Given the description of an element on the screen output the (x, y) to click on. 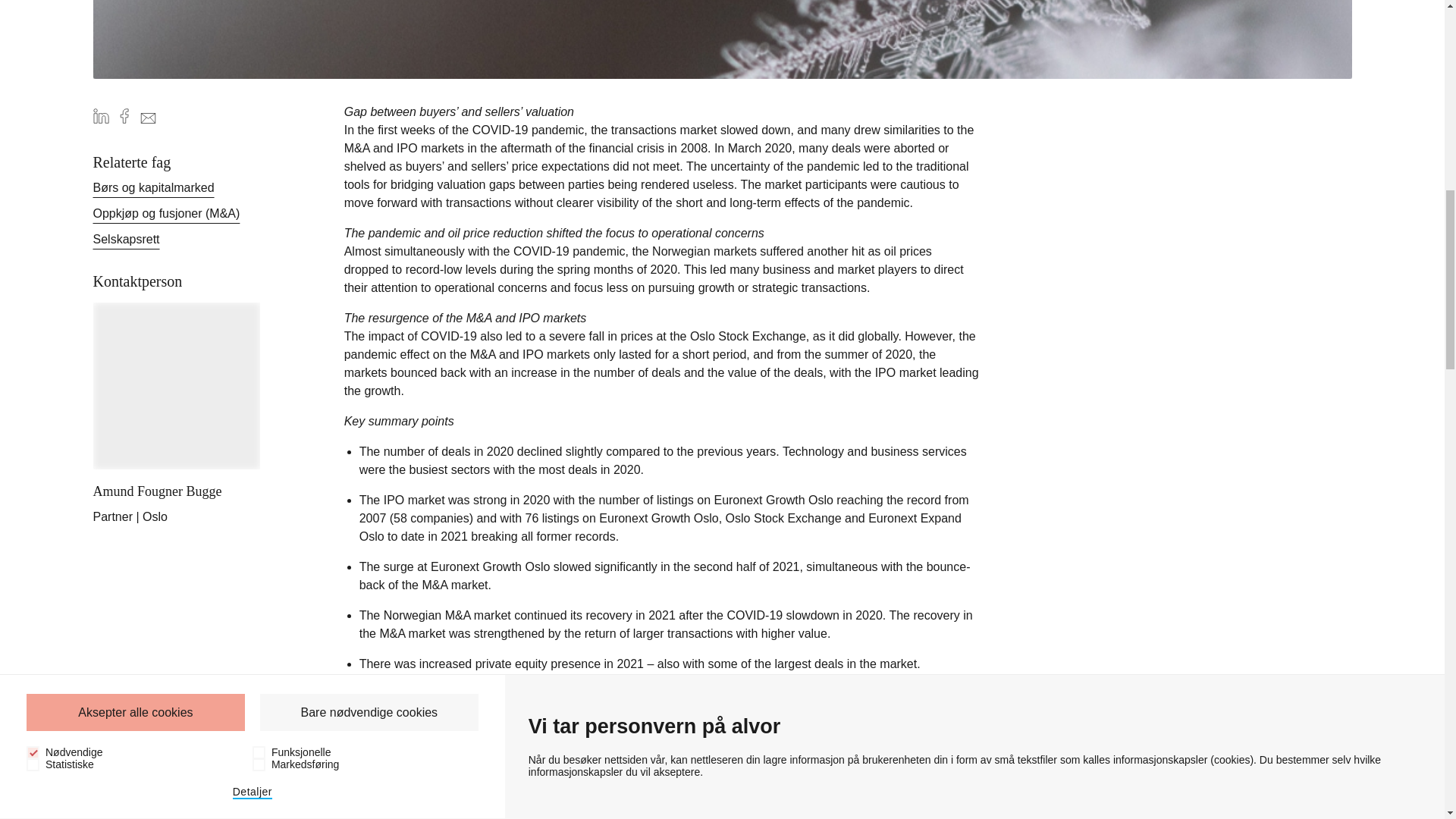
PHP (462, 123)
PHPSESSID (1157, 123)
Cookie Information (462, 80)
CookieInformationConsent (1157, 80)
Kreves for at nettsiden skal fungere riktig. (51, 271)
svw.no (636, 216)
Session (1331, 80)
Session (983, 123)
.cms.chambers.com (983, 166)
Kreves for at nettsiden skal fungere riktig. (1331, 166)
Kreves for at nettsiden skal fungere riktig. (636, 166)
ARRAffinitySameSite (636, 123)
kontrollpanel.svw.no (1157, 166)
OM COOKIES (1331, 123)
